Given the description of an element on the screen output the (x, y) to click on. 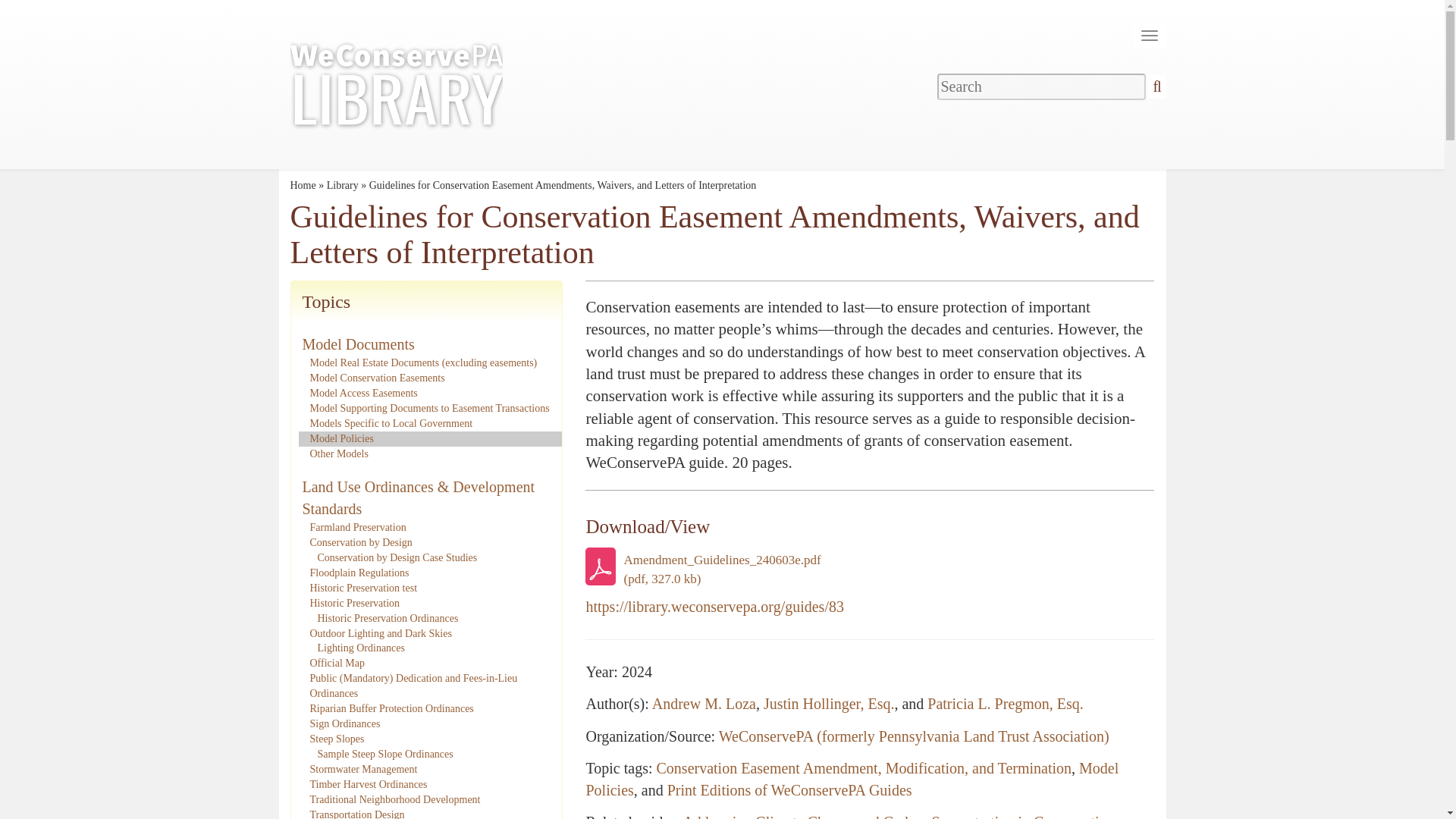
Model Supporting Documents to Easement Transactions (428, 408)
Library (342, 184)
Farmland Preservation (357, 527)
Outdoor Lighting and Dark Skies (379, 633)
Models Specific to Local Government (389, 423)
Official Map (336, 663)
Sample Steep Slope Ordinances (384, 754)
Riparian Buffer Protection Ordinances (390, 708)
Lighting Ordinances (360, 647)
Home (302, 184)
Steep Slopes (336, 738)
Model Conservation Easements (376, 378)
Floodplain Regulations (358, 572)
Stormwater Management (362, 768)
Historic Preservation Ordinances (387, 618)
